Given the description of an element on the screen output the (x, y) to click on. 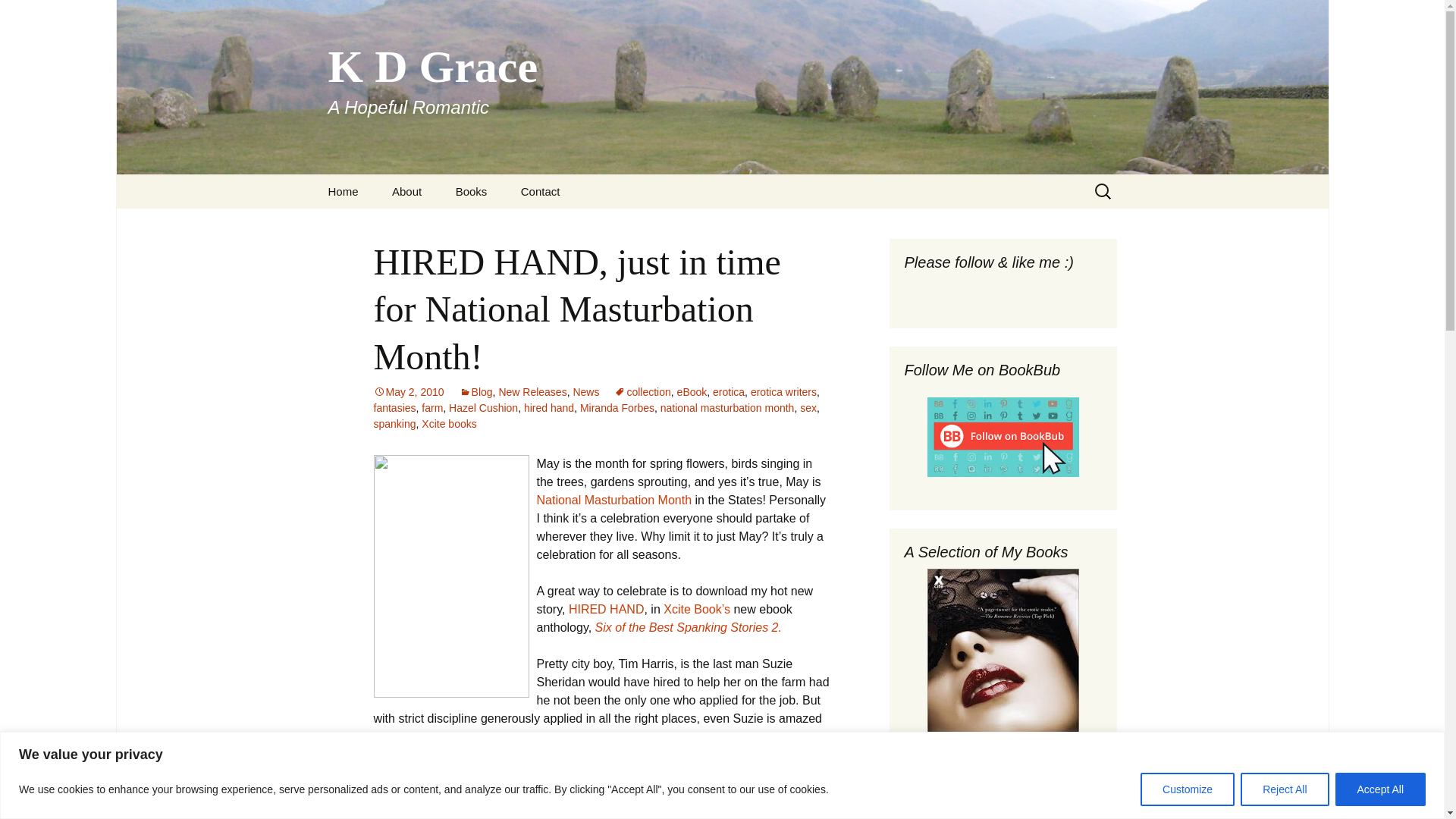
erotica writers (783, 391)
About (406, 191)
Reject All (1283, 788)
Close and accept (1377, 788)
New Releases (531, 391)
Miranda Forbes (616, 408)
Customize (1187, 788)
fantasies (393, 408)
collection (641, 391)
